Given the description of an element on the screen output the (x, y) to click on. 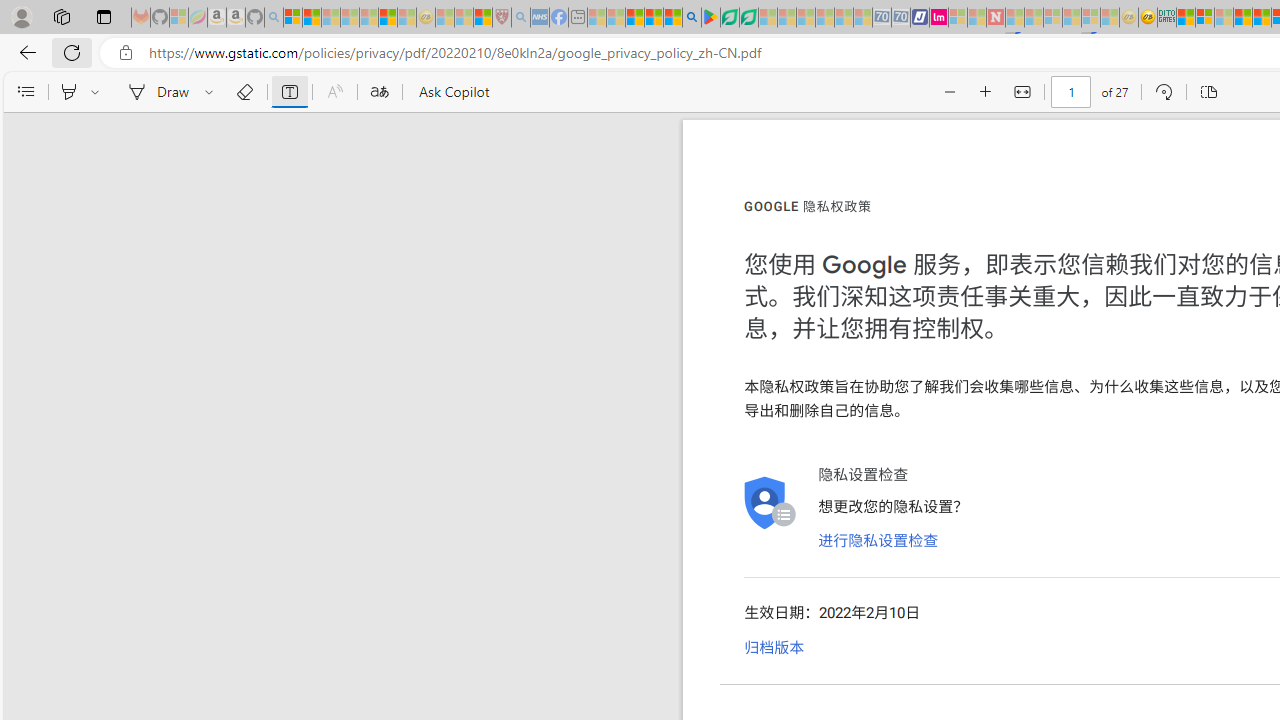
Translate (379, 92)
Microsoft Word - consumer-privacy address update 2.2021 (748, 17)
Select a highlight color (98, 92)
Ask Copilot (452, 92)
Select ink properties (212, 92)
